Given the description of an element on the screen output the (x, y) to click on. 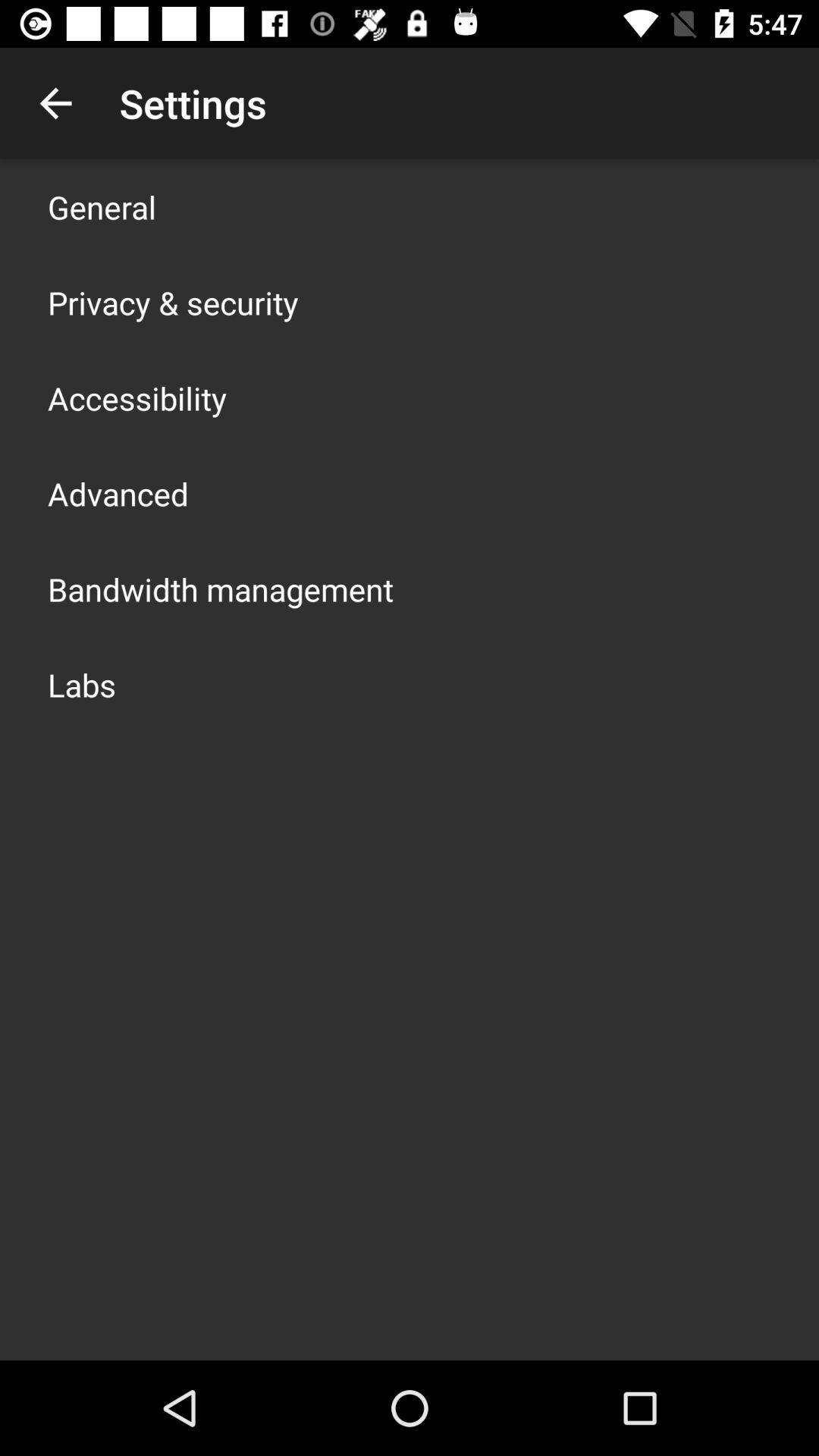
flip to the privacy & security item (172, 302)
